Given the description of an element on the screen output the (x, y) to click on. 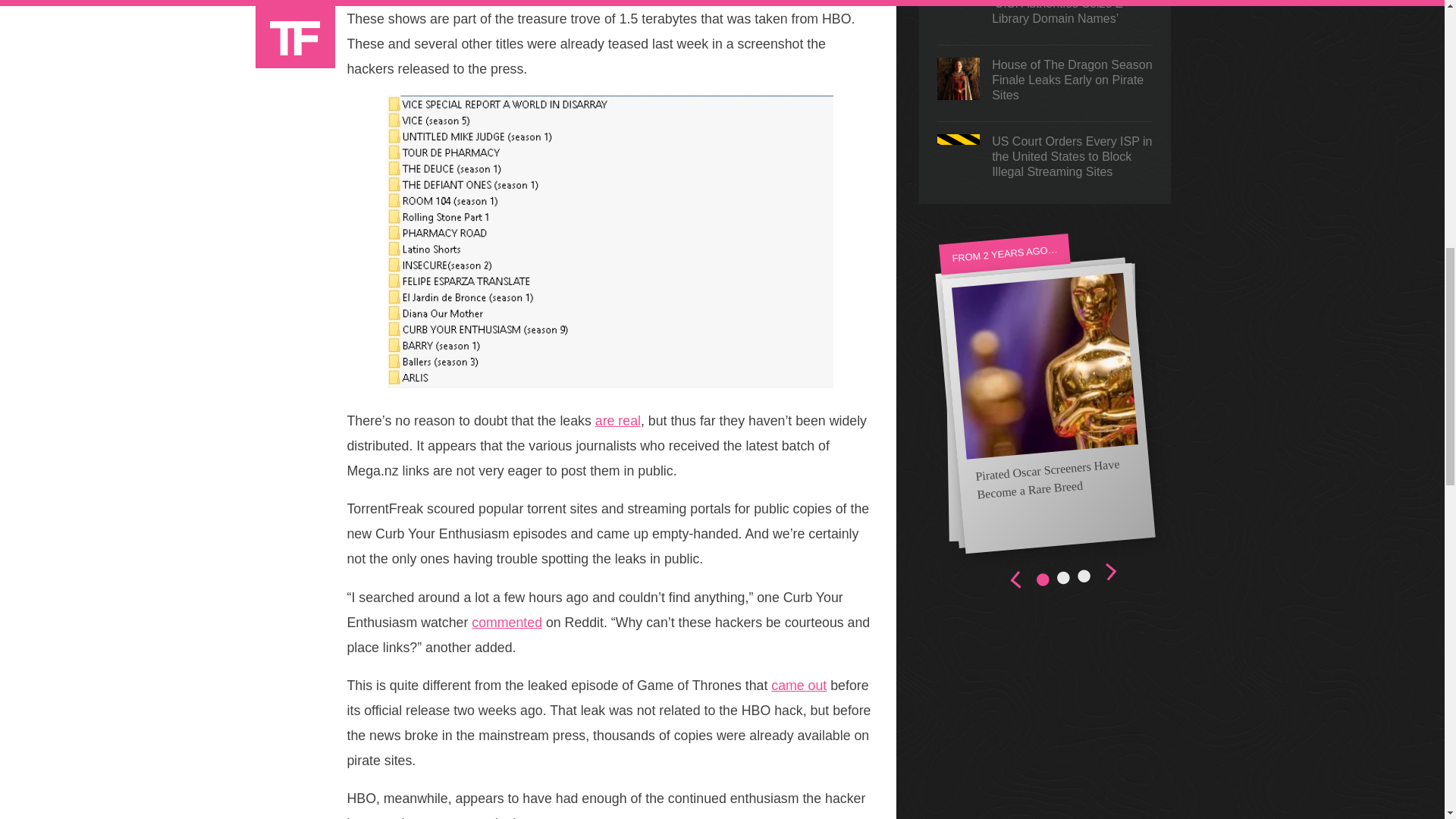
are real (617, 420)
came out (799, 685)
commented (506, 622)
